Given the description of an element on the screen output the (x, y) to click on. 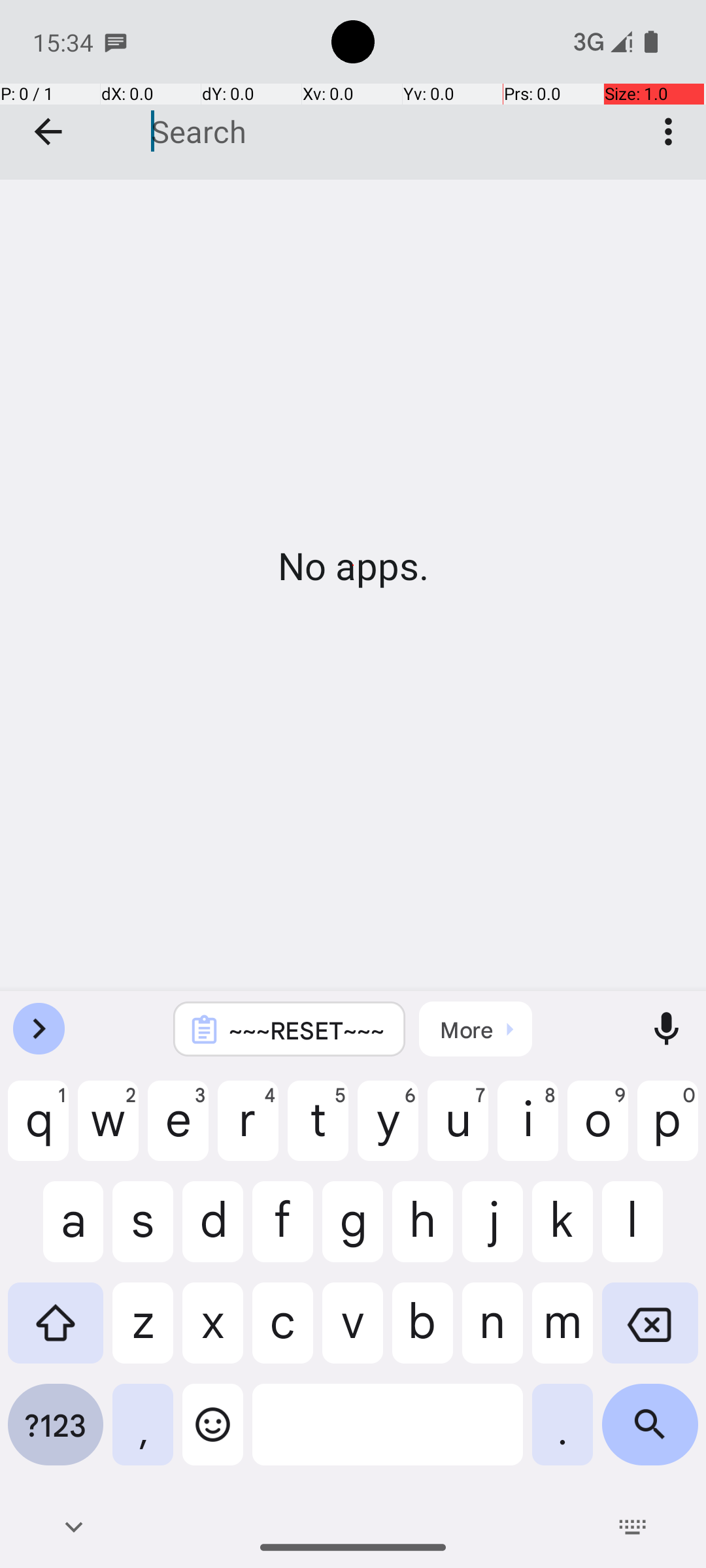
Games Element type: android.widget.FrameLayout (353, 89)
No apps. Element type: android.widget.TextView (353, 565)
